Given the description of an element on the screen output the (x, y) to click on. 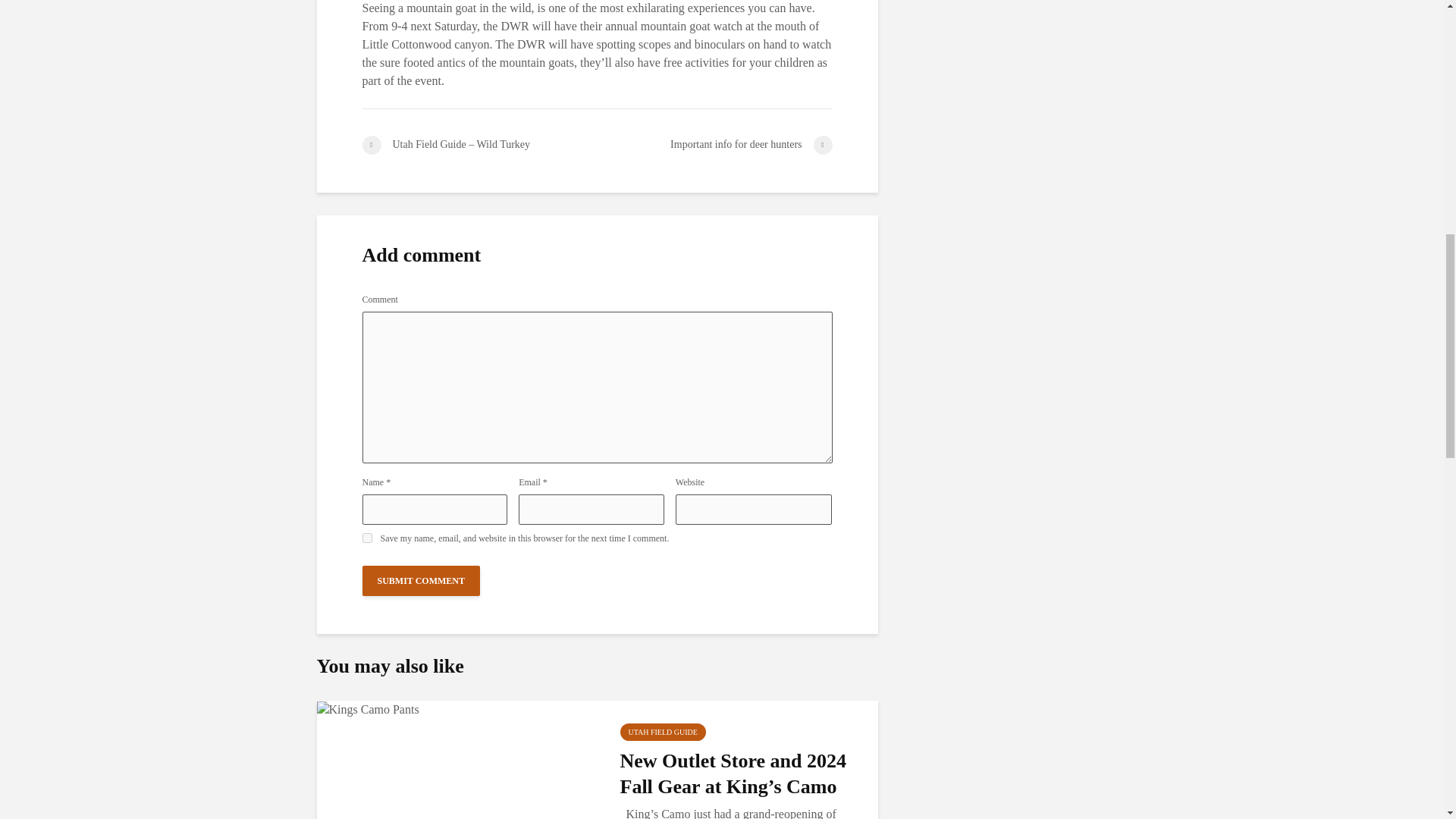
UTAH FIELD GUIDE (663, 732)
yes (367, 537)
Submit Comment (421, 580)
Important info for deer hunters (714, 144)
Submit Comment (421, 580)
